Given the description of an element on the screen output the (x, y) to click on. 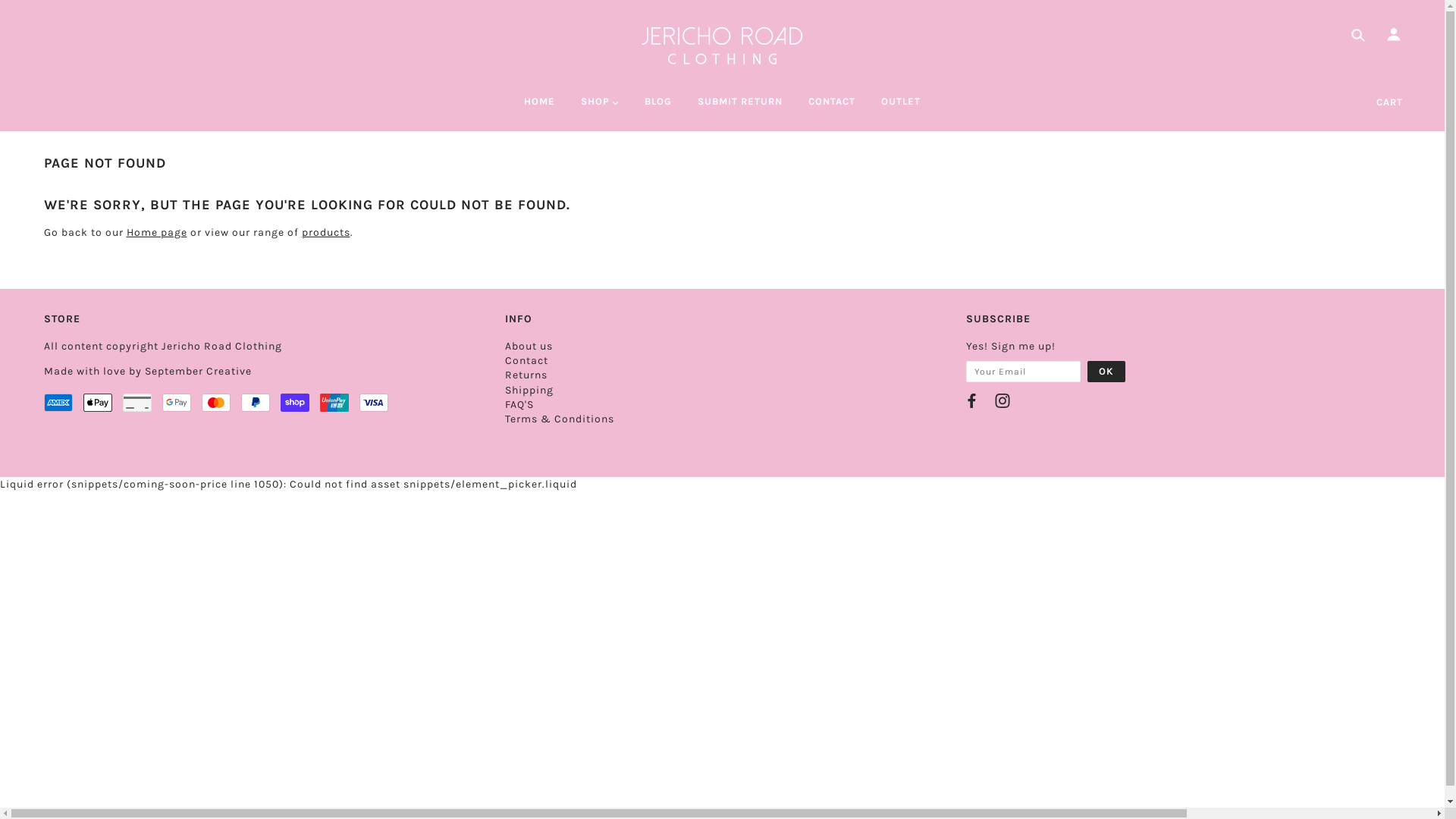
OK Element type: text (1106, 371)
CONTACT Element type: text (831, 107)
Jericho Road Clothing Element type: hover (722, 45)
Shipping Element type: text (529, 389)
Terms & Conditions Element type: text (559, 418)
HOME Element type: text (539, 107)
Returns Element type: text (526, 374)
Contact Element type: text (526, 360)
CART Element type: text (1389, 101)
SHOP Element type: text (599, 107)
SUBMIT RETURN Element type: text (739, 107)
Made with love by September Creative Element type: text (147, 370)
products Element type: text (325, 231)
About us Element type: text (528, 345)
OUTLET Element type: text (900, 107)
FAQ'S Element type: text (519, 404)
Home page Element type: text (155, 231)
BLOG Element type: text (658, 107)
